Given the description of an element on the screen output the (x, y) to click on. 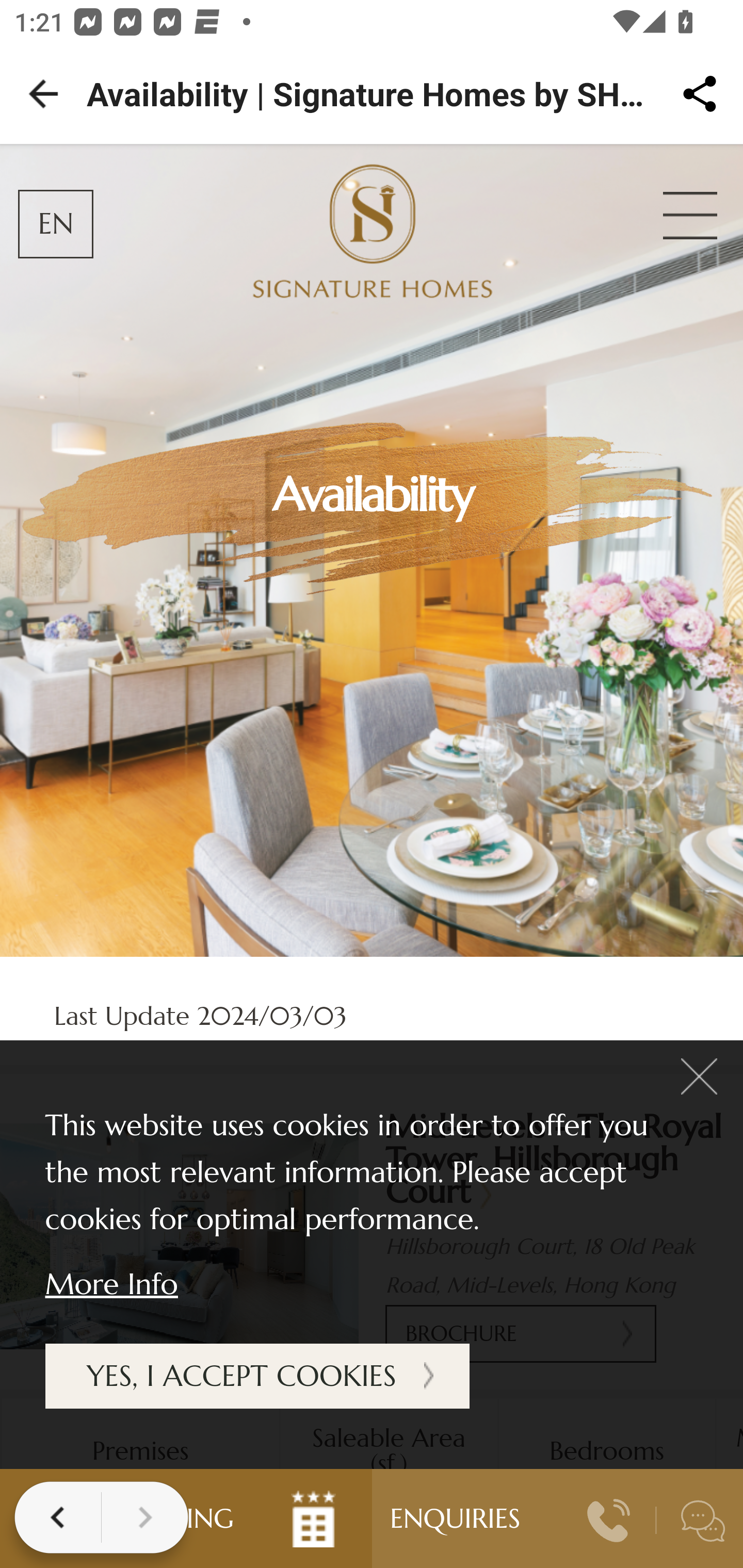
Logo (371, 241)
EN (55, 224)
Close (689, 215)
More Info (110, 1283)
YES, I ACCEPT COOKIES (256, 1376)
ENQUIRIES (455, 1518)
call (608, 1518)
chat (703, 1520)
